Given the description of an element on the screen output the (x, y) to click on. 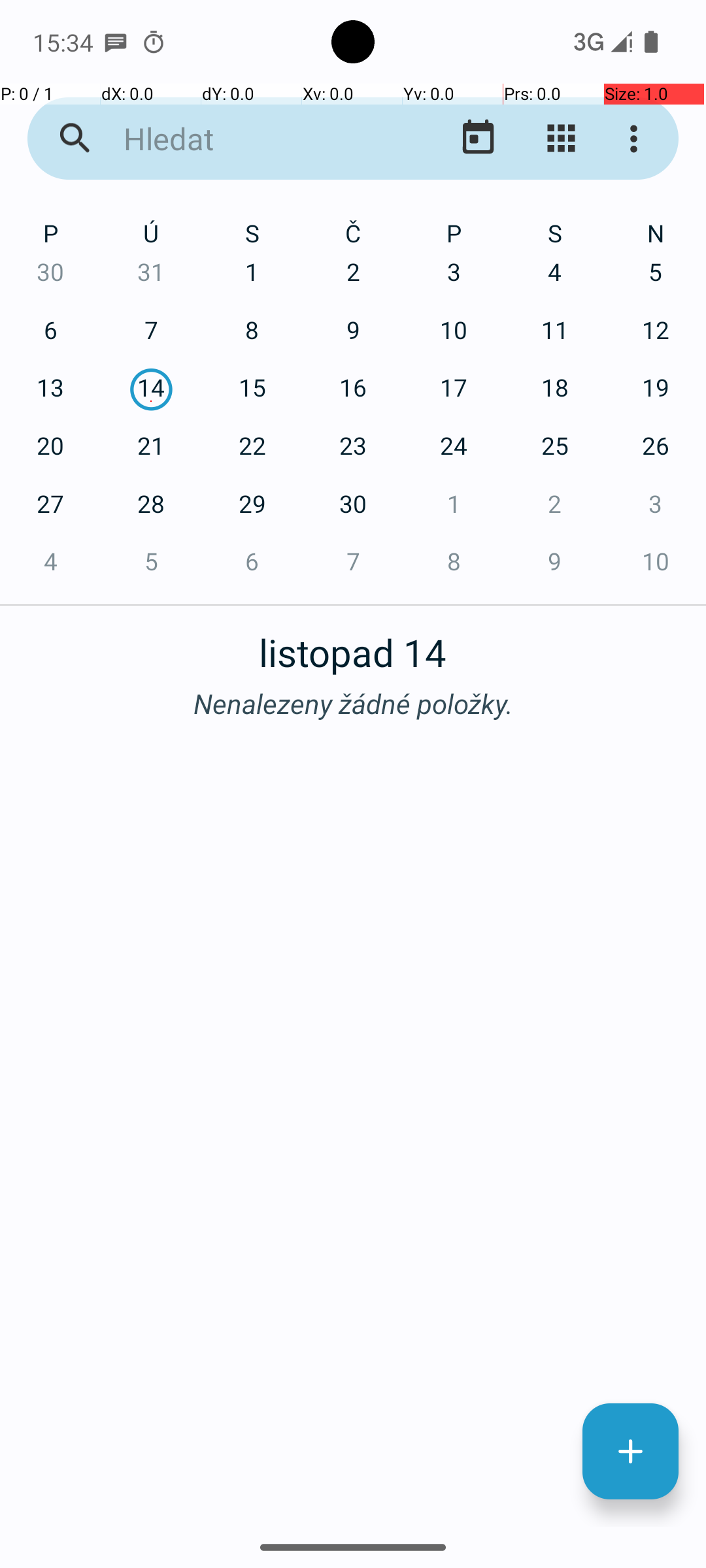
Přejít na dnešní datum Element type: android.widget.Button (477, 138)
listopad 14 Element type: android.widget.TextView (352, 644)
Nenalezeny žádné položky. Element type: android.widget.TextView (352, 702)
SMS Messenger notification: +17247648679 Element type: android.widget.ImageView (115, 41)
